Given the description of an element on the screen output the (x, y) to click on. 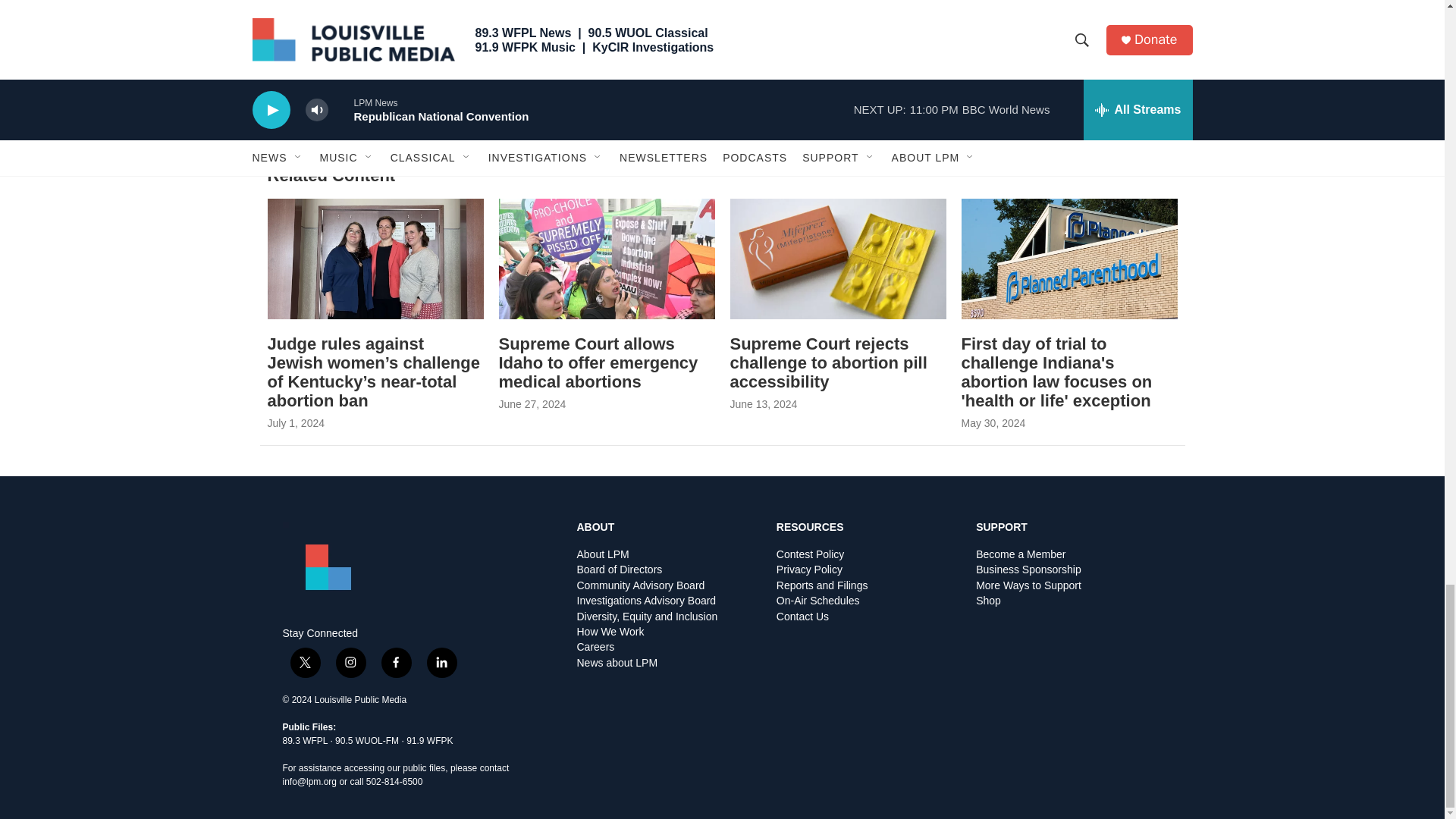
20 (768, 14)
